Given the description of an element on the screen output the (x, y) to click on. 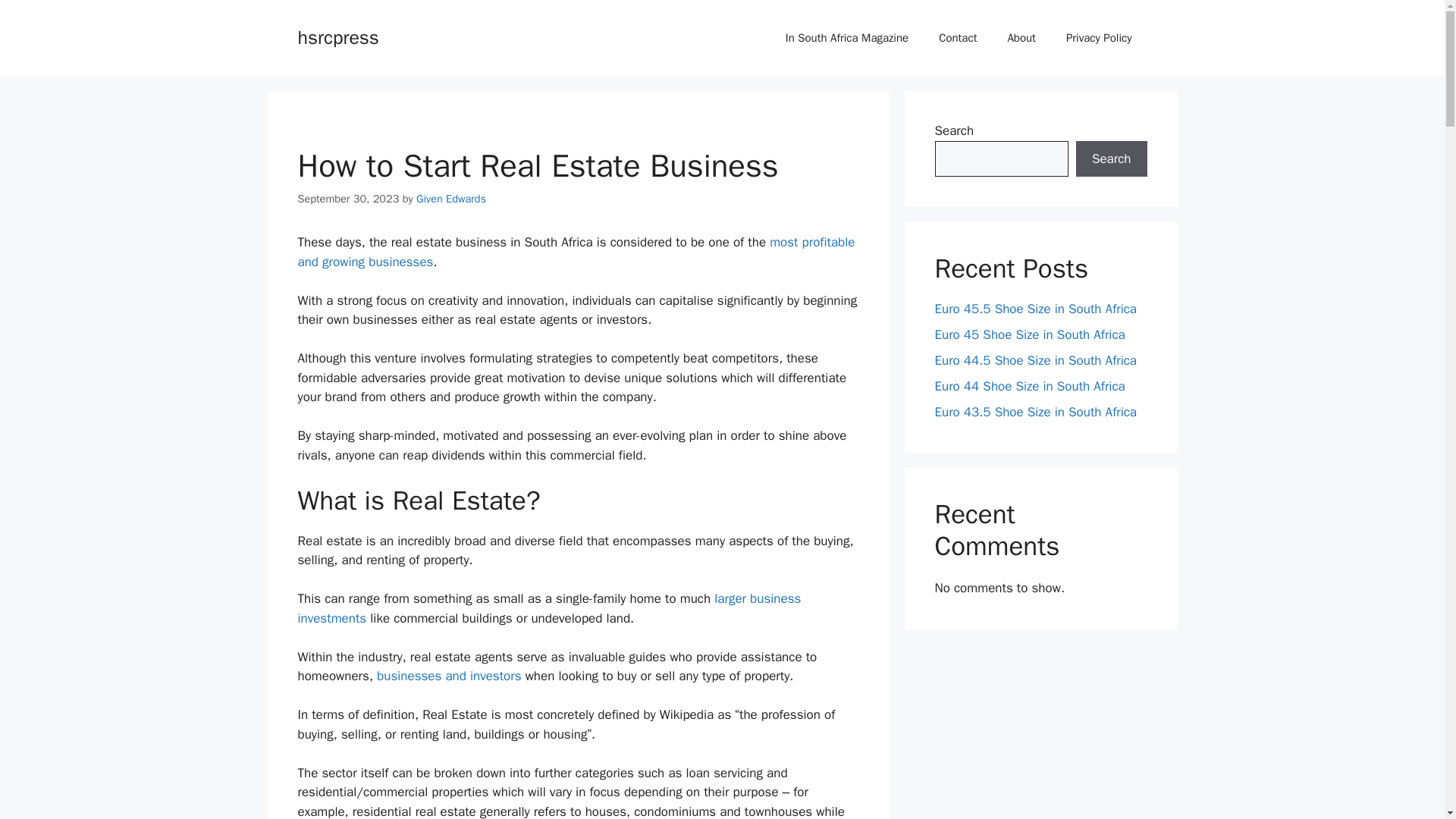
Contact (957, 37)
Euro 45 Shoe Size in South Africa (1029, 334)
Euro 44.5 Shoe Size in South Africa (1035, 360)
hsrcpress (337, 37)
Euro 43.5 Shoe Size in South Africa (1035, 412)
Euro 45.5 Shoe Size in South Africa (1035, 308)
larger business investments (548, 608)
Search (1111, 158)
most profitable and growing businesses (575, 252)
Privacy Policy (1099, 37)
In South Africa Magazine (846, 37)
View all posts by Given Edwards (451, 198)
Euro 44 Shoe Size in South Africa (1029, 385)
Given Edwards (451, 198)
businesses and investors (449, 675)
